Given the description of an element on the screen output the (x, y) to click on. 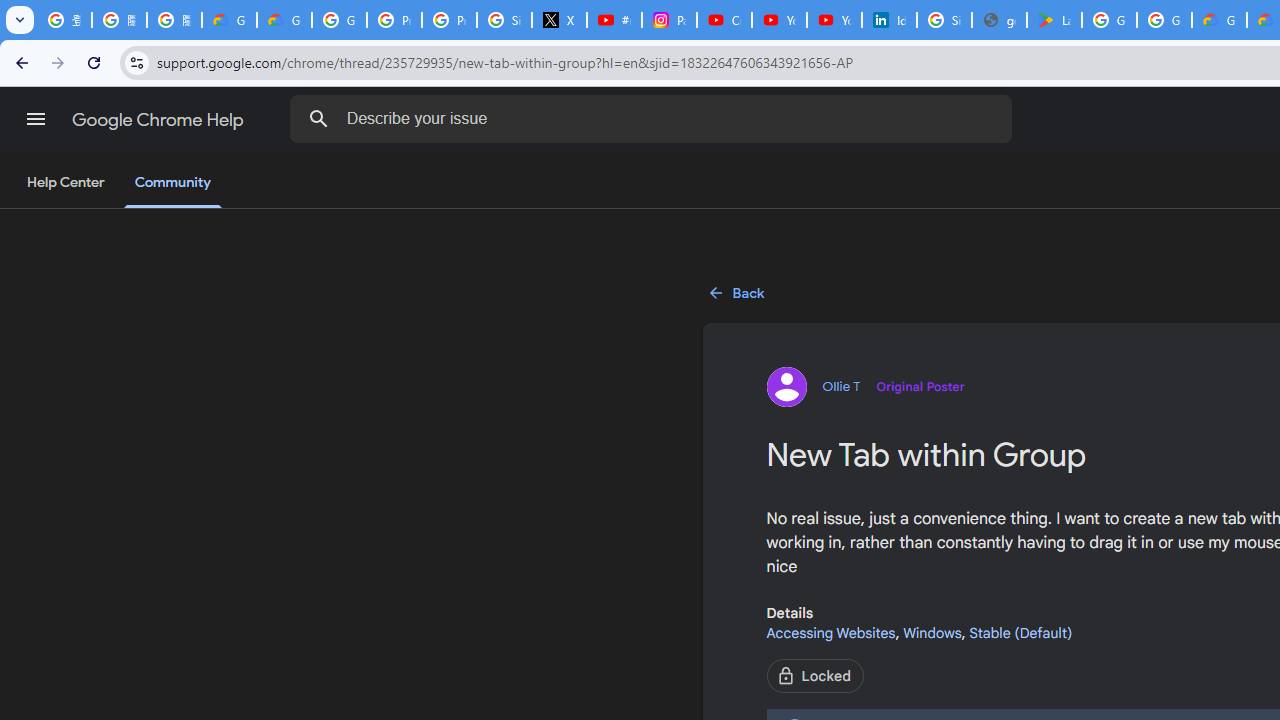
Describe your issue (653, 118)
Stable (Default) (1020, 632)
Google Cloud Privacy Notice (229, 20)
google_privacy_policy_en.pdf (998, 20)
Government | Google Cloud (1218, 20)
Google Chrome Help (159, 119)
#nbabasketballhighlights - YouTube (614, 20)
Google Cloud Privacy Notice (284, 20)
